Given the description of an element on the screen output the (x, y) to click on. 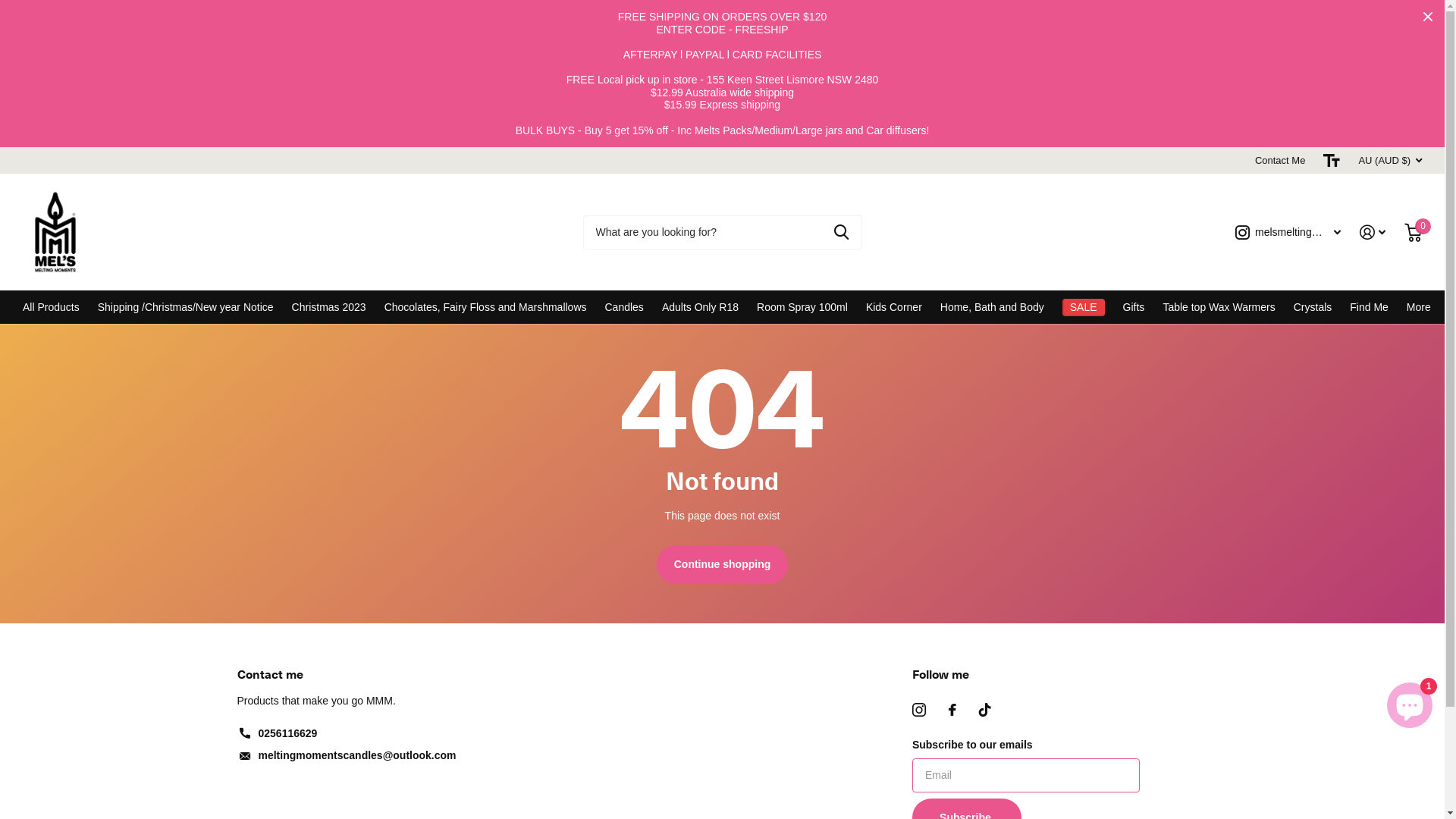
Find Me Element type: text (1368, 306)
Home, Bath and Body Element type: text (992, 306)
AU (AUD $) Element type: text (1389, 160)
All Products Element type: text (50, 306)
Zoeken Element type: text (841, 232)
Adults Only R18 Element type: text (700, 306)
Room Spray 100ml Element type: text (801, 306)
meltingmomentscandles@outlook.com Element type: text (356, 755)
Gifts Element type: text (1134, 306)
0256116629 Element type: text (286, 733)
Chocolates, Fairy Floss and Marshmallows Element type: text (485, 306)
melsmeltingmomentssoycandles Element type: text (1288, 232)
Shopify online store chat Element type: hover (1409, 702)
Table top Wax Warmers Element type: text (1218, 306)
Close Element type: text (1427, 16)
Contact Me Element type: text (1280, 160)
Crystals Element type: text (1312, 306)
SALE Element type: text (1083, 306)
Continue shopping Element type: text (722, 564)
Christmas 2023 Element type: text (328, 306)
More Element type: text (1418, 306)
Candles Element type: text (624, 306)
Shipping /Christmas/New year Notice Element type: text (185, 306)
Kids Corner Element type: text (894, 306)
0 Element type: text (1412, 232)
